Given the description of an element on the screen output the (x, y) to click on. 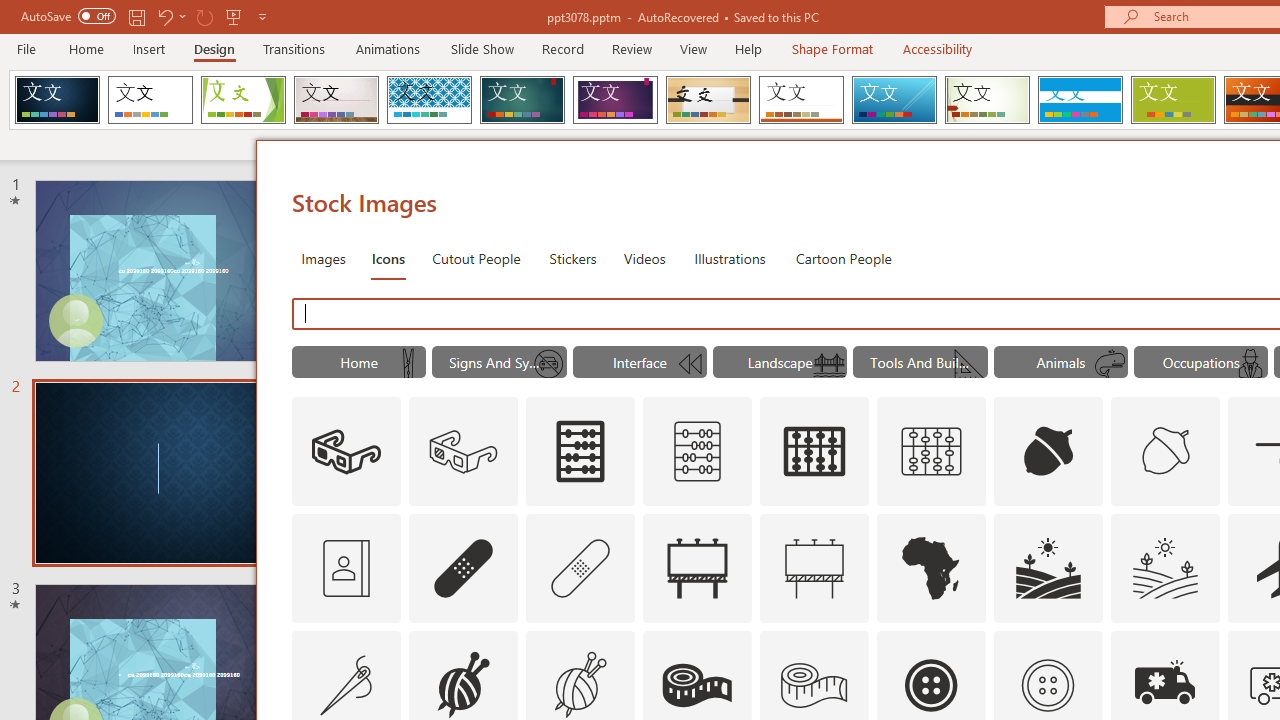
AutomationID: Icons_Advertising_M (815, 568)
Images (322, 258)
Icons (388, 258)
"Interface" Icons. (639, 362)
AutomationID: Icons_Abacus1 (815, 452)
Facet (243, 100)
